Given the description of an element on the screen output the (x, y) to click on. 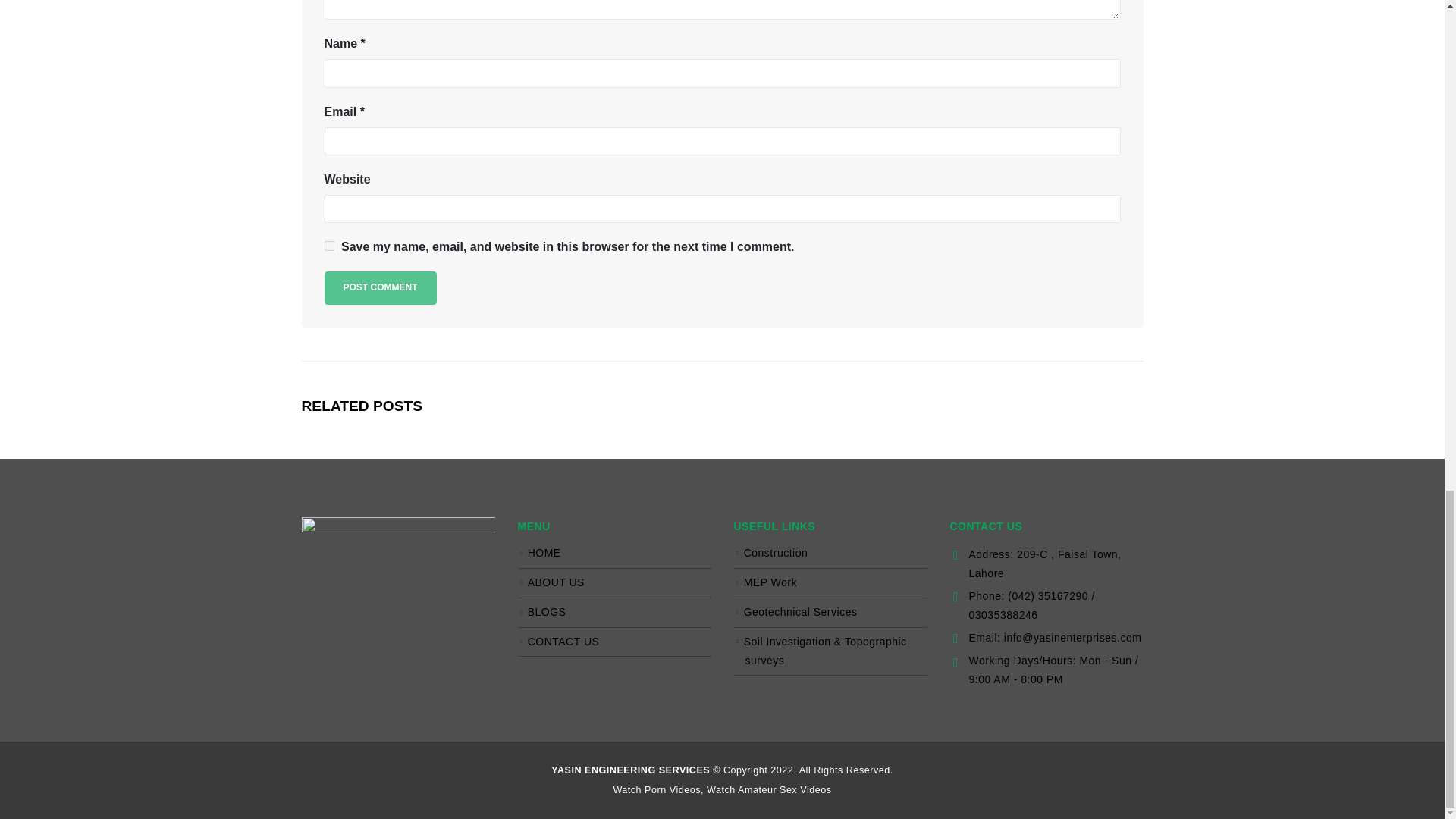
Post Comment (380, 287)
Post Comment (380, 287)
yes (329, 245)
Watch Porn Videos, Watch Amateur Sex (721, 789)
